Given the description of an element on the screen output the (x, y) to click on. 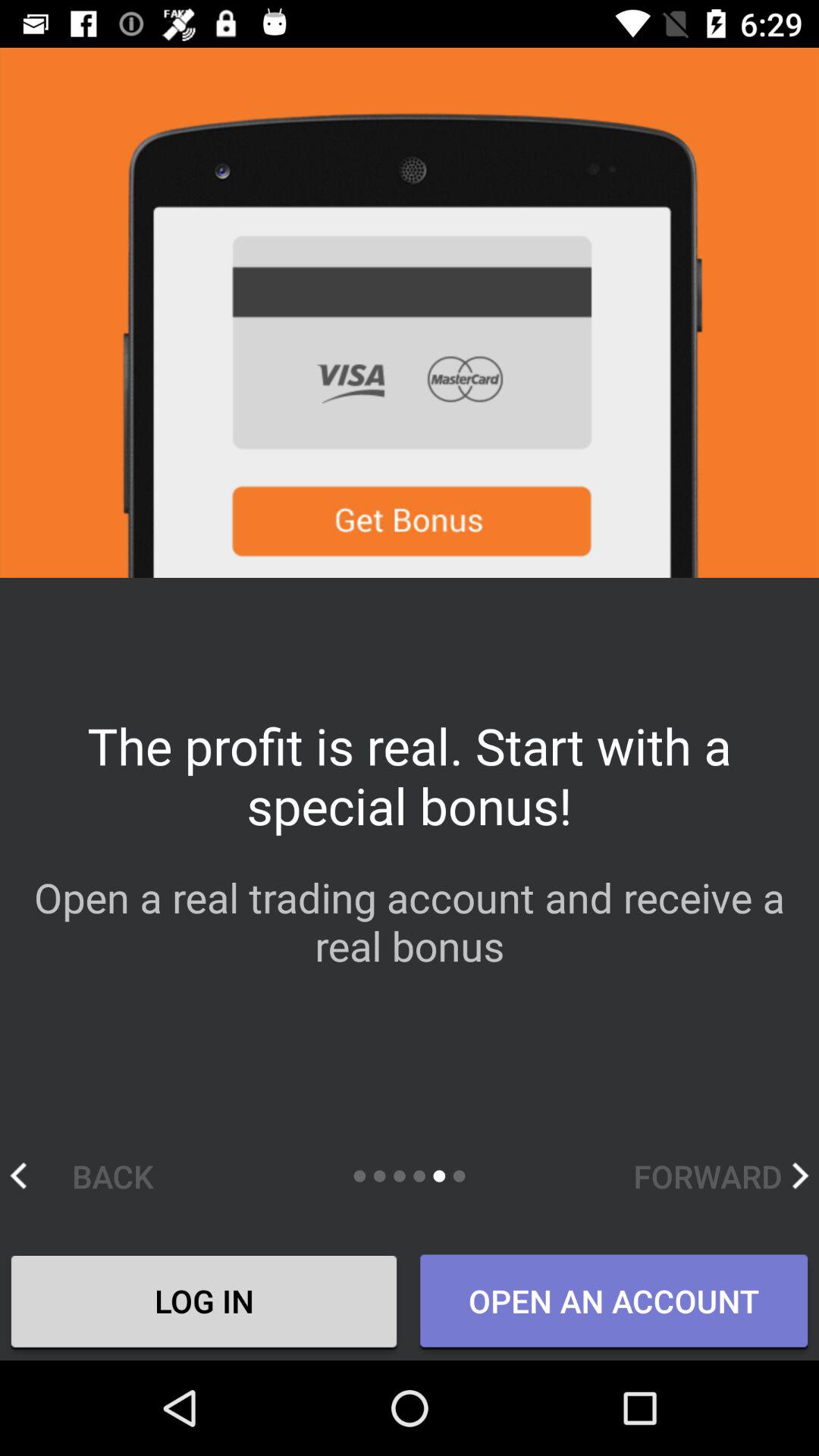
scroll until the forward item (720, 1175)
